Given the description of an element on the screen output the (x, y) to click on. 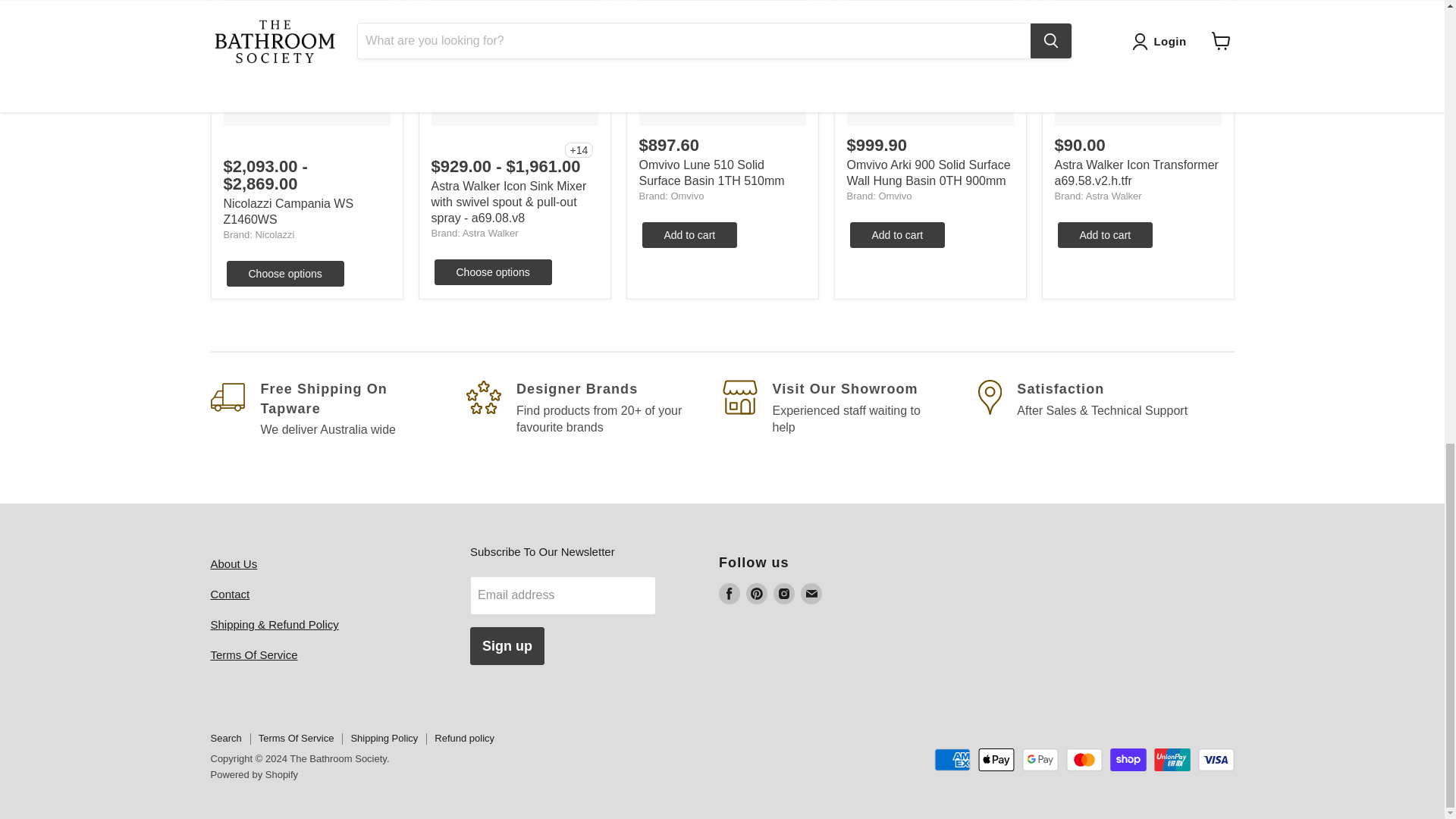
Instagram (783, 593)
Terms of Service (254, 654)
Omvivo (686, 195)
Astra Walker (1113, 195)
Shipping Policy (275, 624)
Facebook (729, 593)
Pinterest (756, 593)
Nicolazzi (274, 234)
Contact (230, 594)
About Us (234, 563)
